Given the description of an element on the screen output the (x, y) to click on. 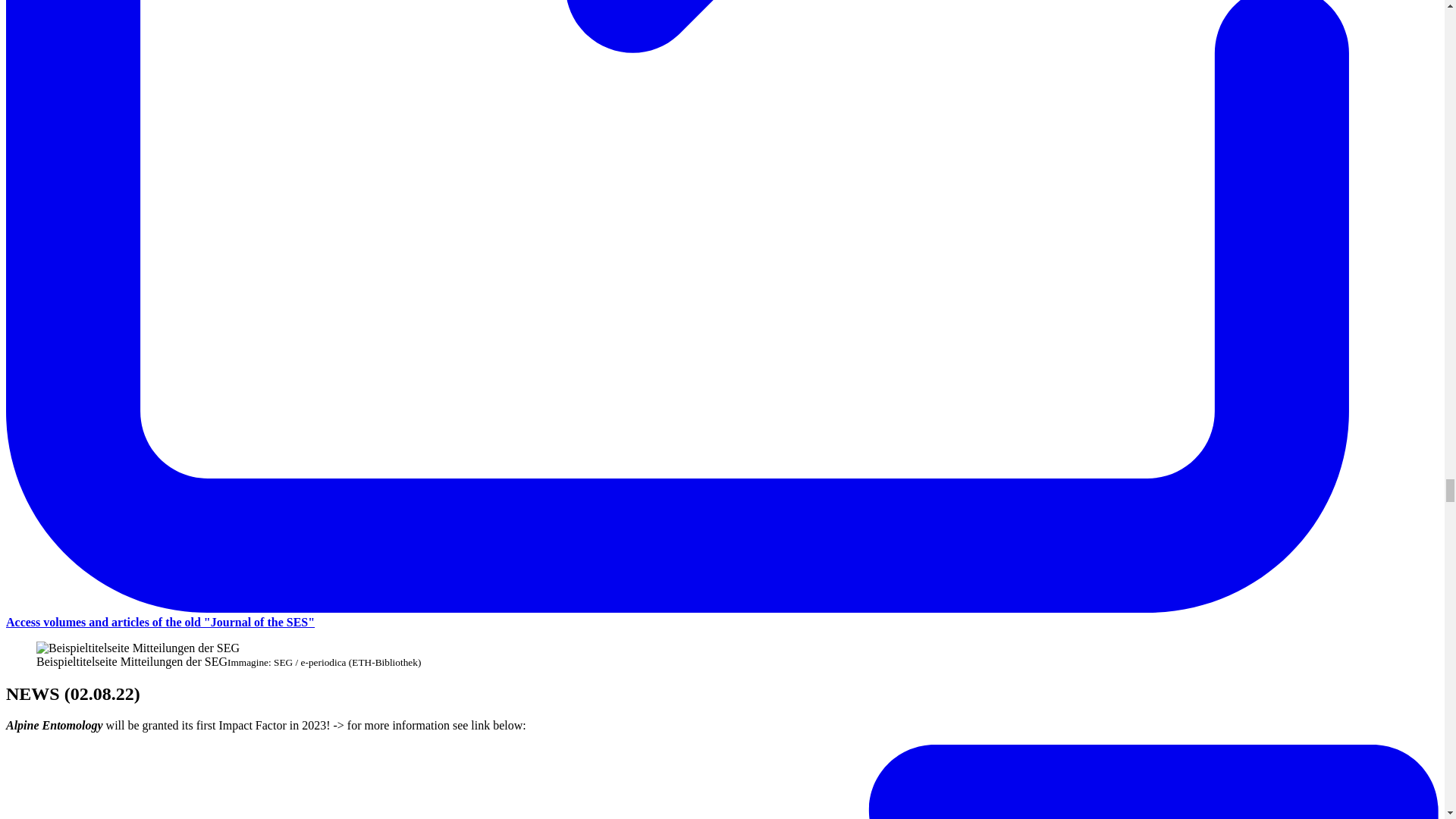
Beispieltitelseite Mitteilungen der SEG (138, 648)
